Given the description of an element on the screen output the (x, y) to click on. 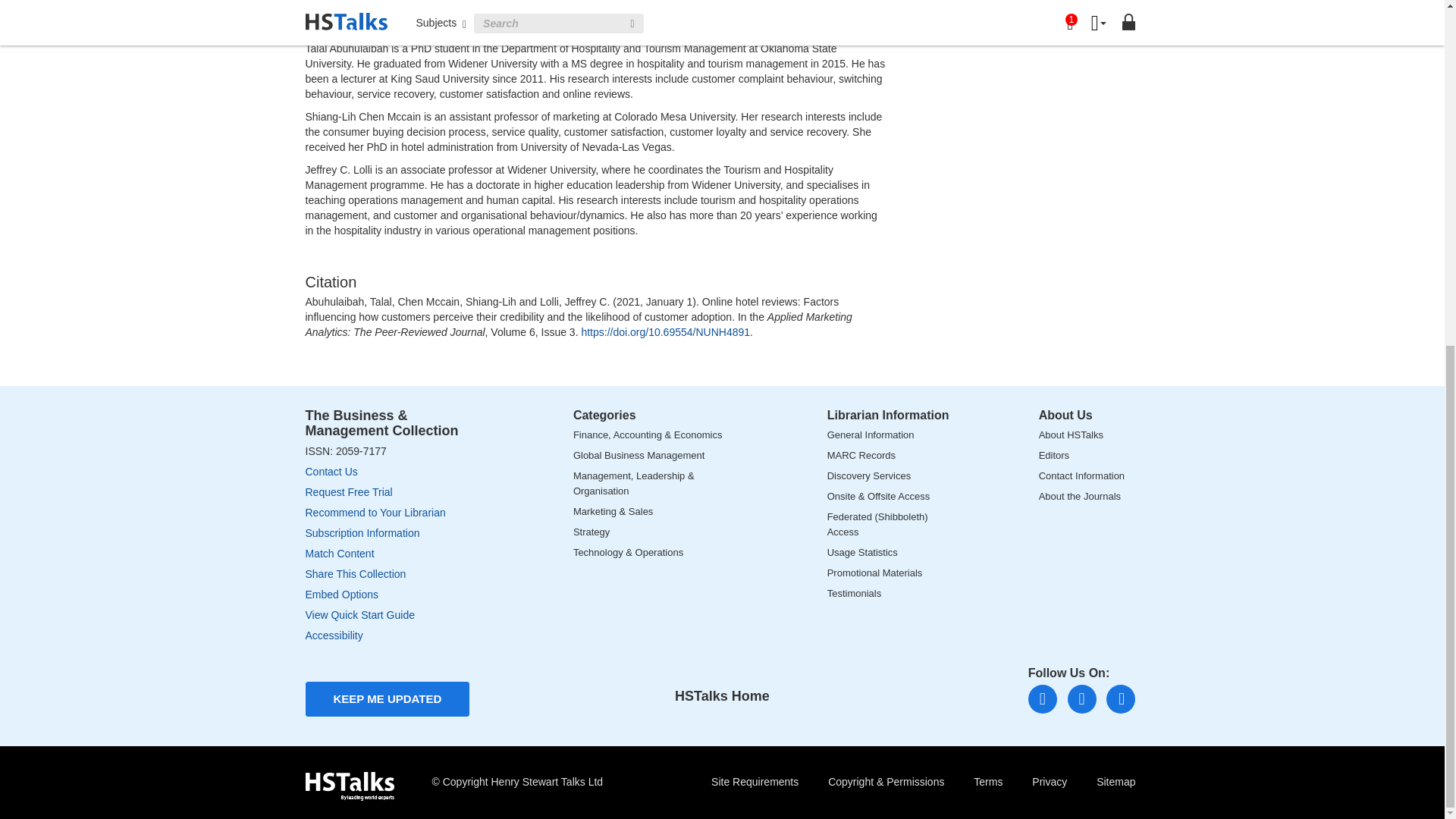
Follow us on X (1081, 698)
Follow us on LinkedIn (1042, 698)
Open RSS Feed (1120, 698)
